Given the description of an element on the screen output the (x, y) to click on. 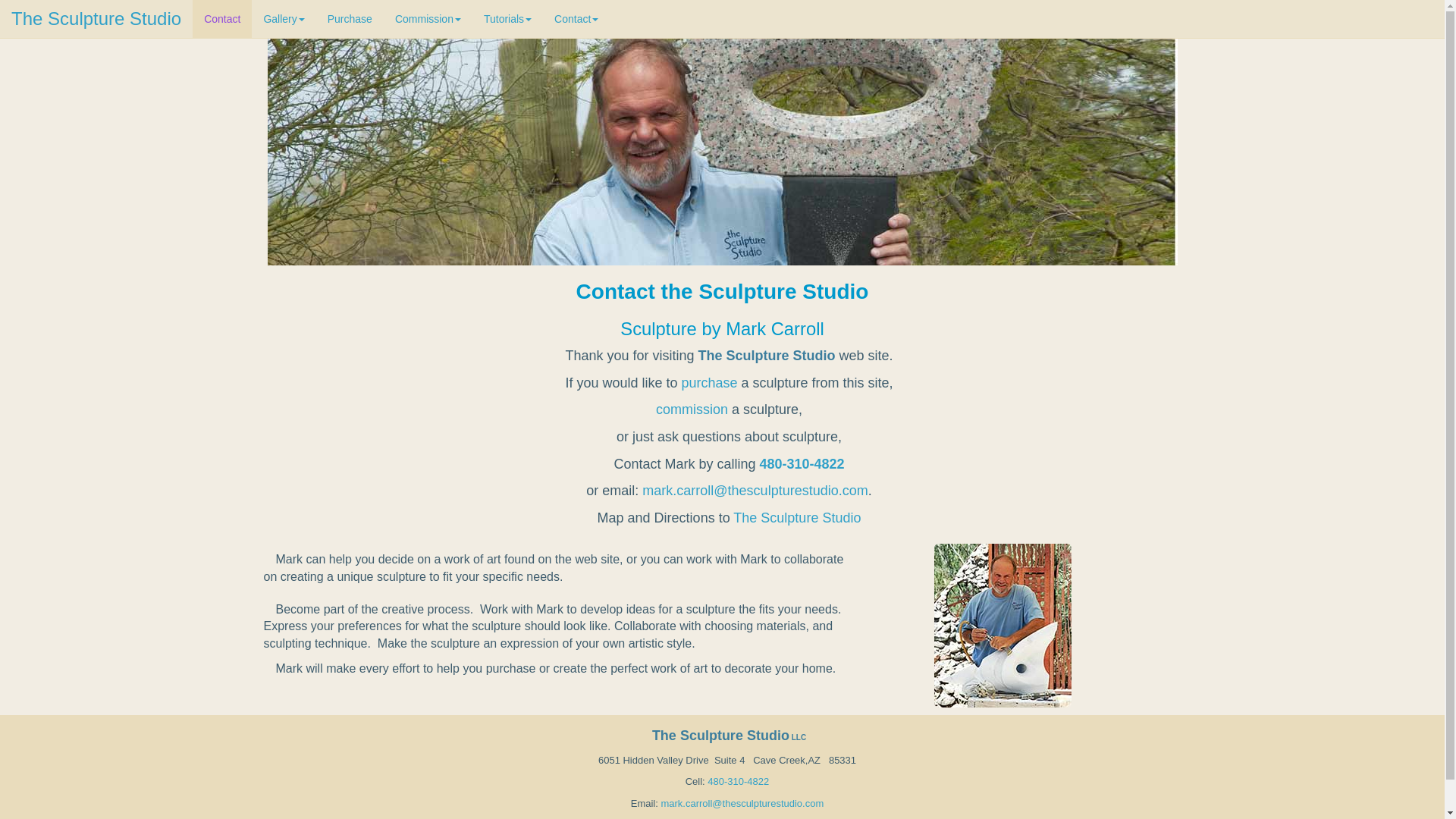
Gallery (283, 18)
480-310-4822 (801, 463)
Purchase (349, 18)
Contact (576, 18)
The Sculpture Studio (96, 18)
commission (692, 409)
Tutorials (507, 18)
480-310-4822 (737, 781)
The Sculpture Studio (796, 517)
Commission (427, 18)
